Given the description of an element on the screen output the (x, y) to click on. 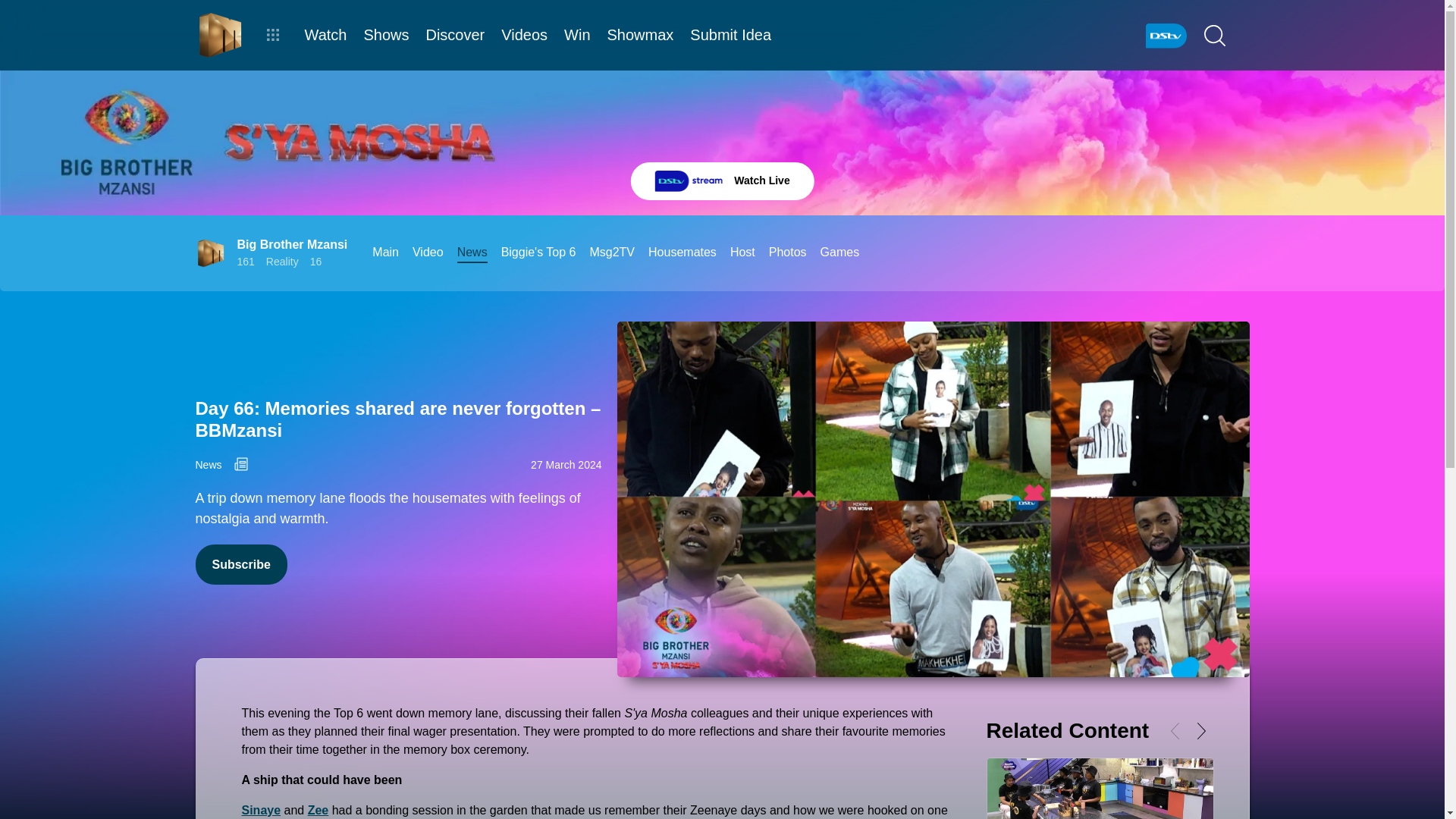
Main (385, 252)
Photos (787, 252)
Video (428, 252)
Biggie's Top 6 (538, 252)
Housemates (681, 252)
News (472, 252)
Subscribe (240, 564)
Msg2TV (611, 252)
Games (840, 252)
Sinaye (261, 809)
Zee (318, 809)
Host (742, 252)
Watch Live (721, 180)
